Given the description of an element on the screen output the (x, y) to click on. 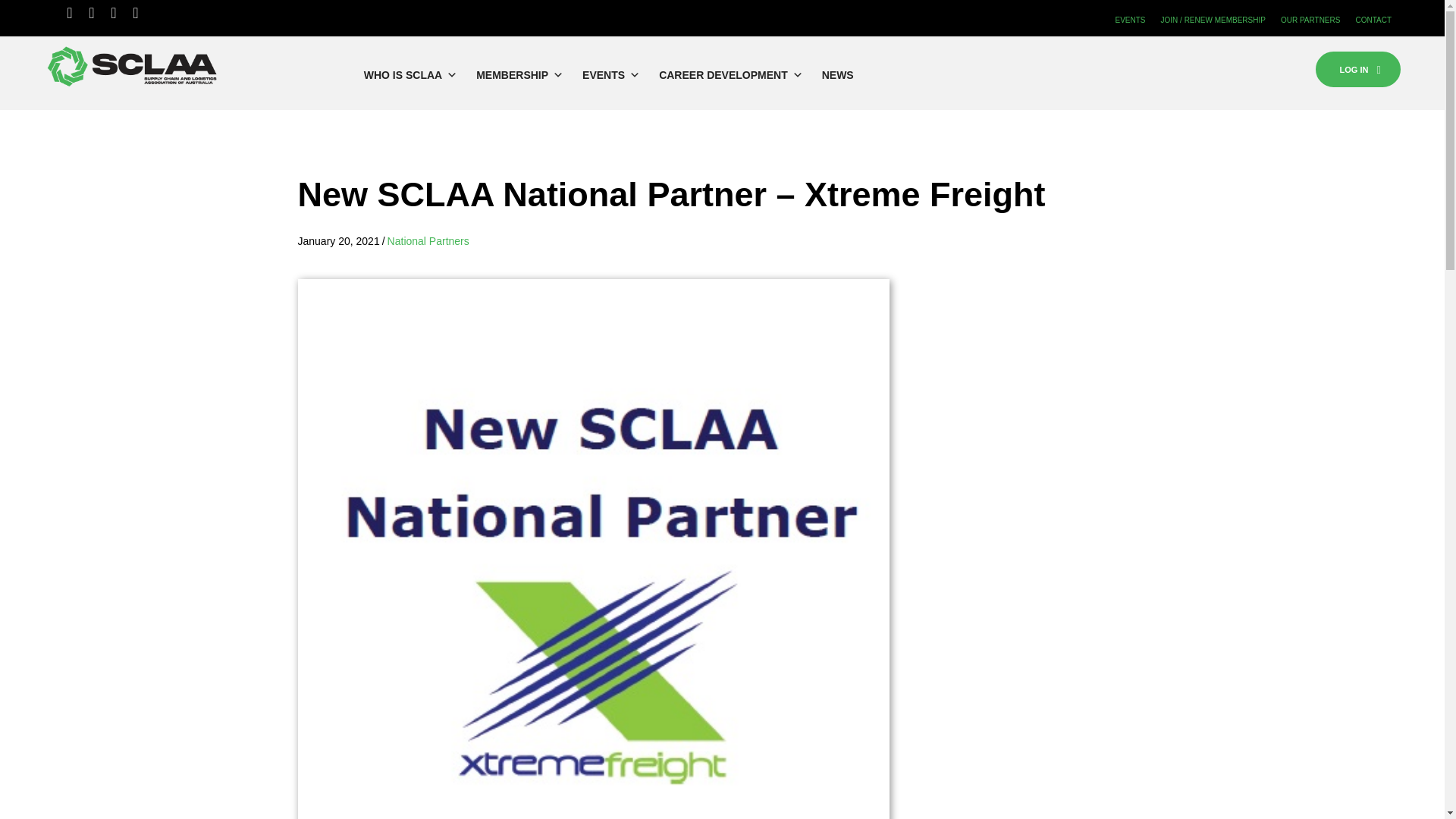
CONTACT (1373, 18)
OUR PARTNERS (1310, 18)
EVENTS (1130, 18)
